Given the description of an element on the screen output the (x, y) to click on. 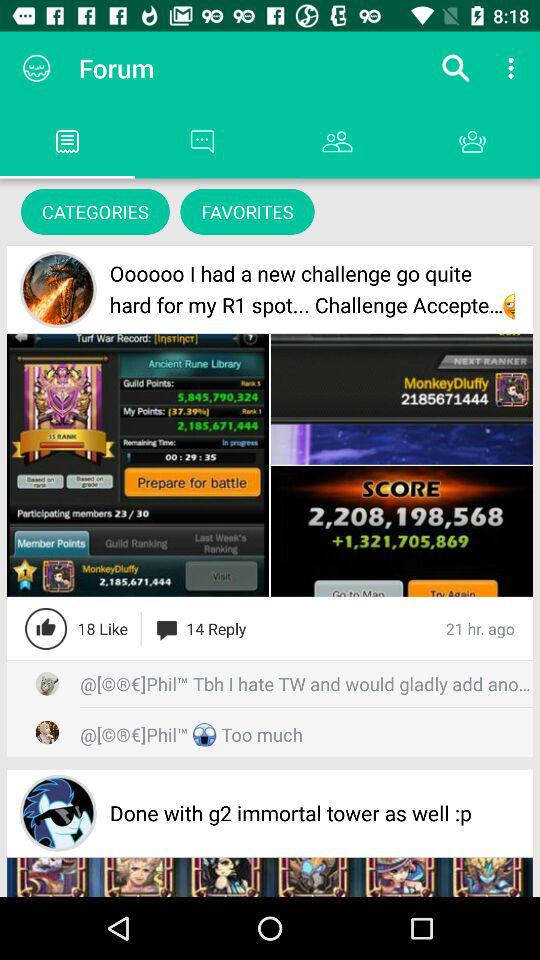
jump to the categories item (95, 211)
